Given the description of an element on the screen output the (x, y) to click on. 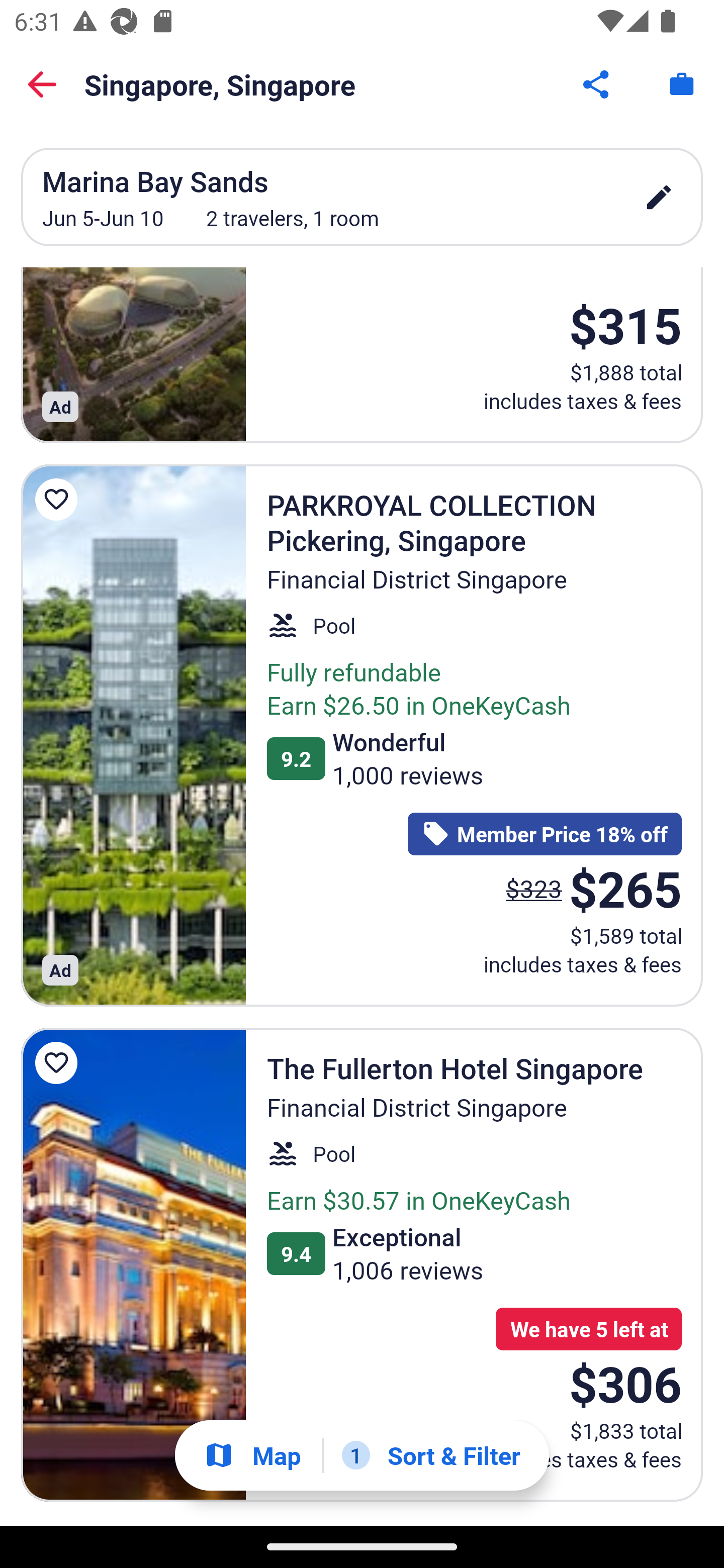
Back (42, 84)
Share Button (597, 84)
Trips. Button (681, 84)
Fairmont Singapore (133, 355)
PARKROYAL COLLECTION Pickering, Singapore (133, 735)
$323 The price was $323 (533, 888)
Save The Fullerton Hotel Singapore to a trip (59, 1062)
The Fullerton Hotel Singapore (133, 1264)
1 Sort & Filter 1 Filter applied. Filters Button (430, 1455)
Show map Map Show map Button (252, 1455)
